Given the description of an element on the screen output the (x, y) to click on. 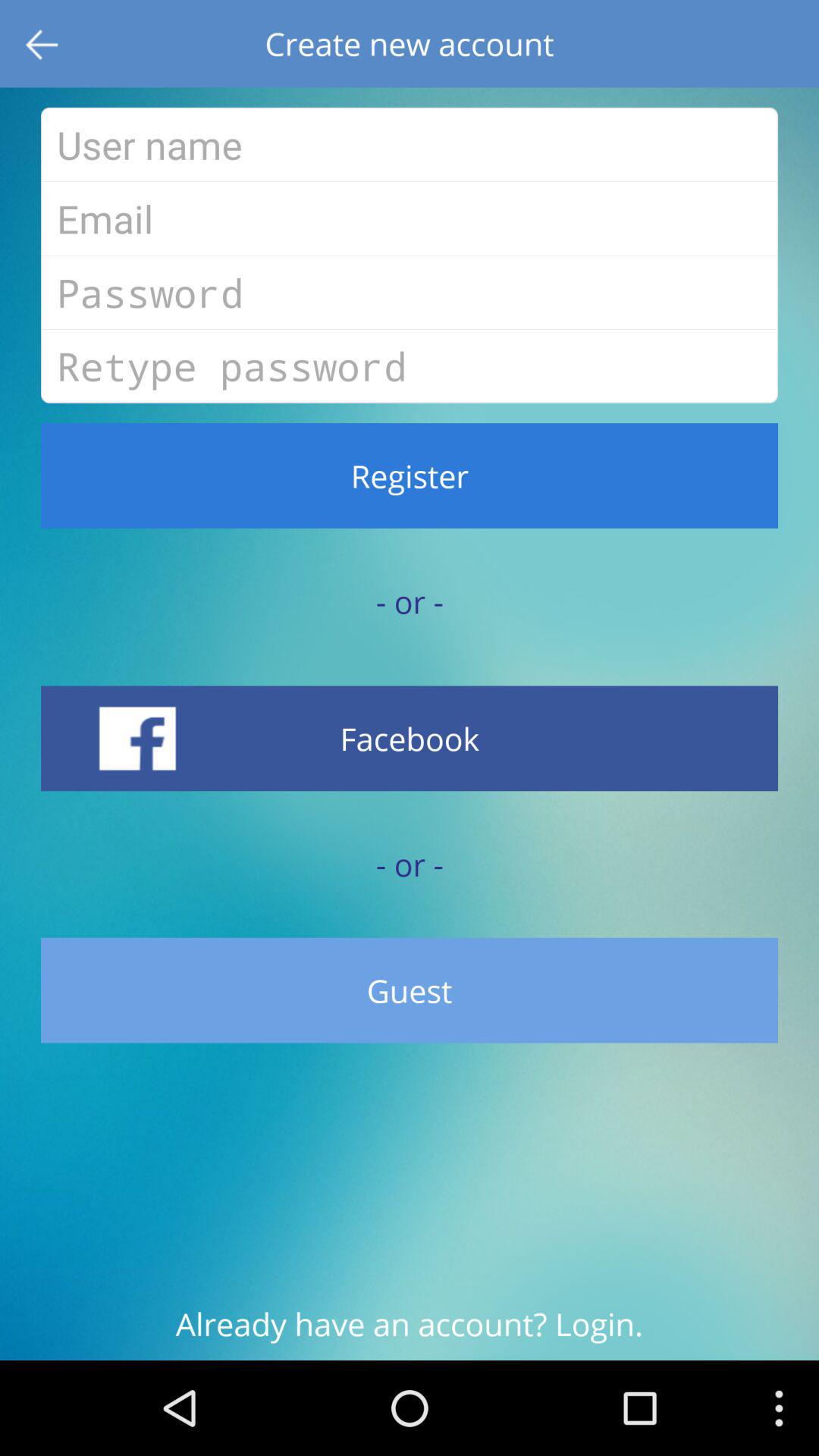
go back to previous page (43, 43)
